Given the description of an element on the screen output the (x, y) to click on. 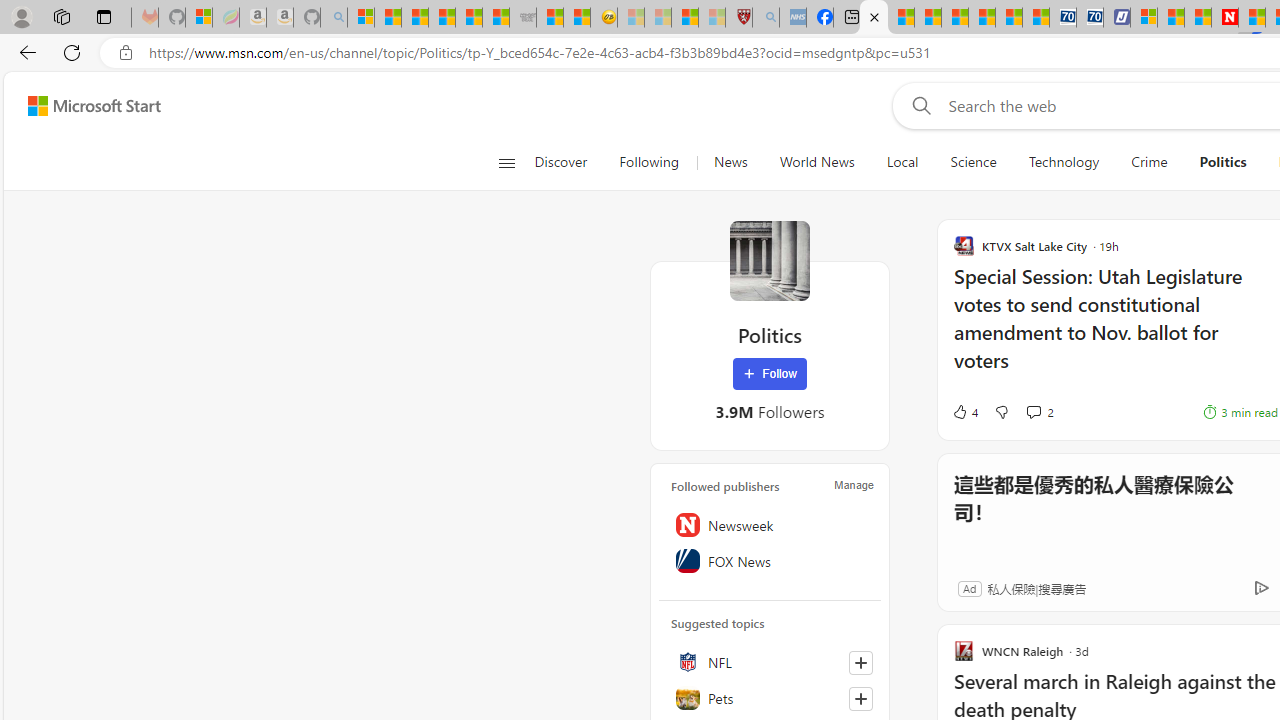
Follow (769, 373)
NFL (770, 661)
The Weather Channel - MSN (414, 17)
